Given the description of an element on the screen output the (x, y) to click on. 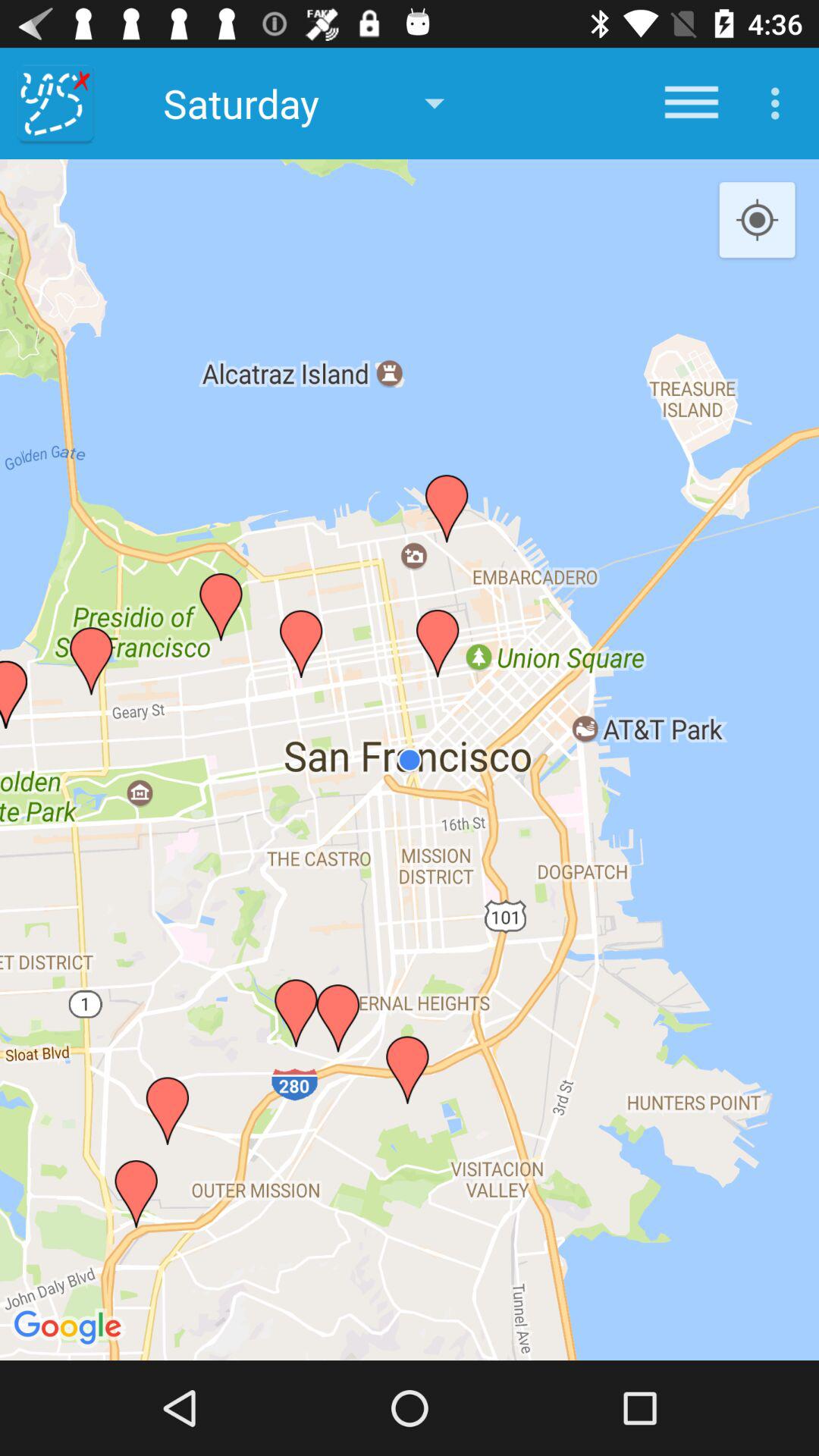
turn on icon next to saturday (691, 103)
